Given the description of an element on the screen output the (x, y) to click on. 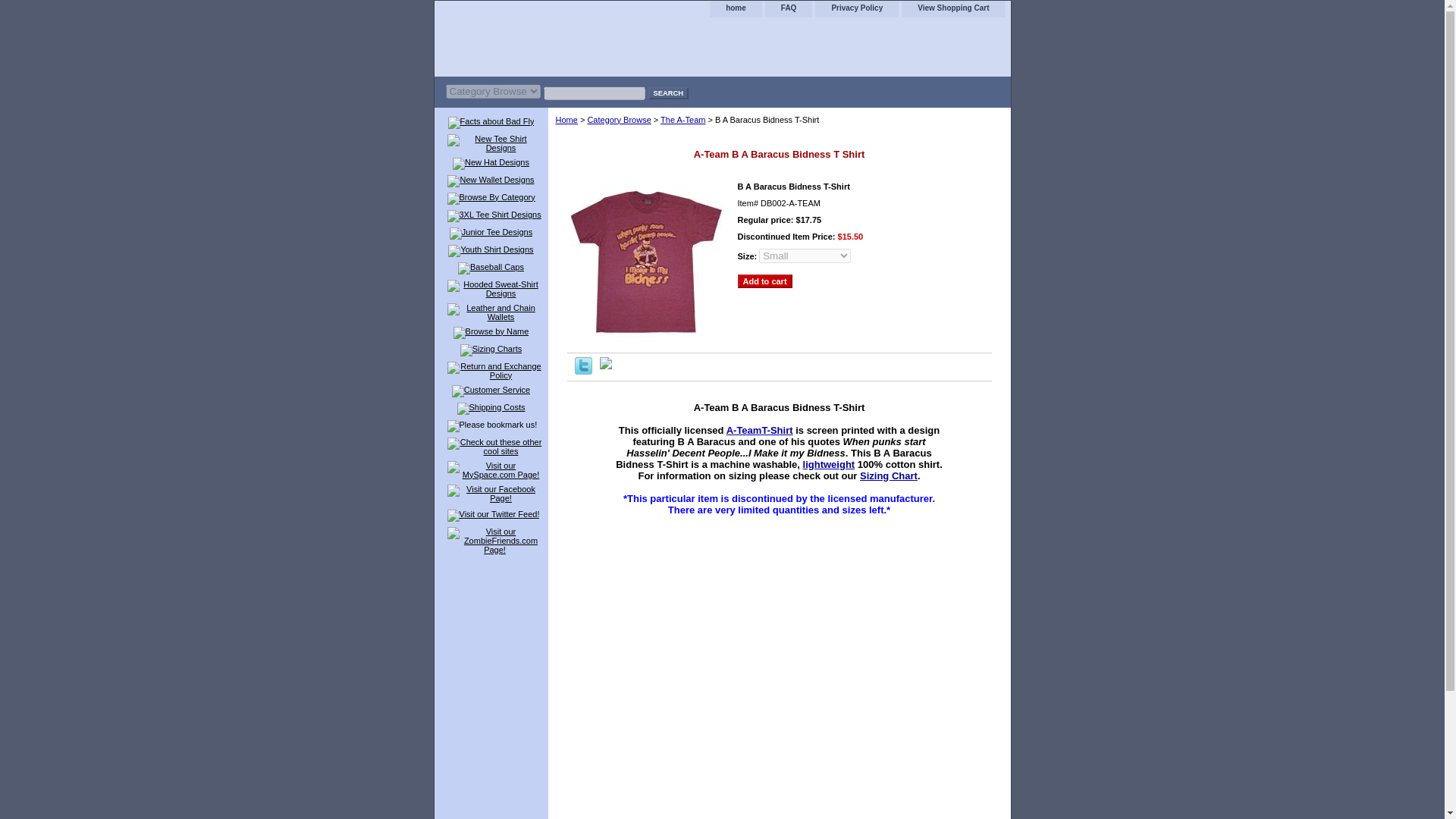
3XL Shirts (490, 709)
Category Browse (490, 682)
Juniors Tees (490, 735)
New Shirts (490, 602)
SEARCH (667, 92)
Add to cart (764, 281)
Hoodies (490, 810)
A-TeamT-Shirt (759, 430)
home (735, 8)
Add to cart (764, 281)
